Given the description of an element on the screen output the (x, y) to click on. 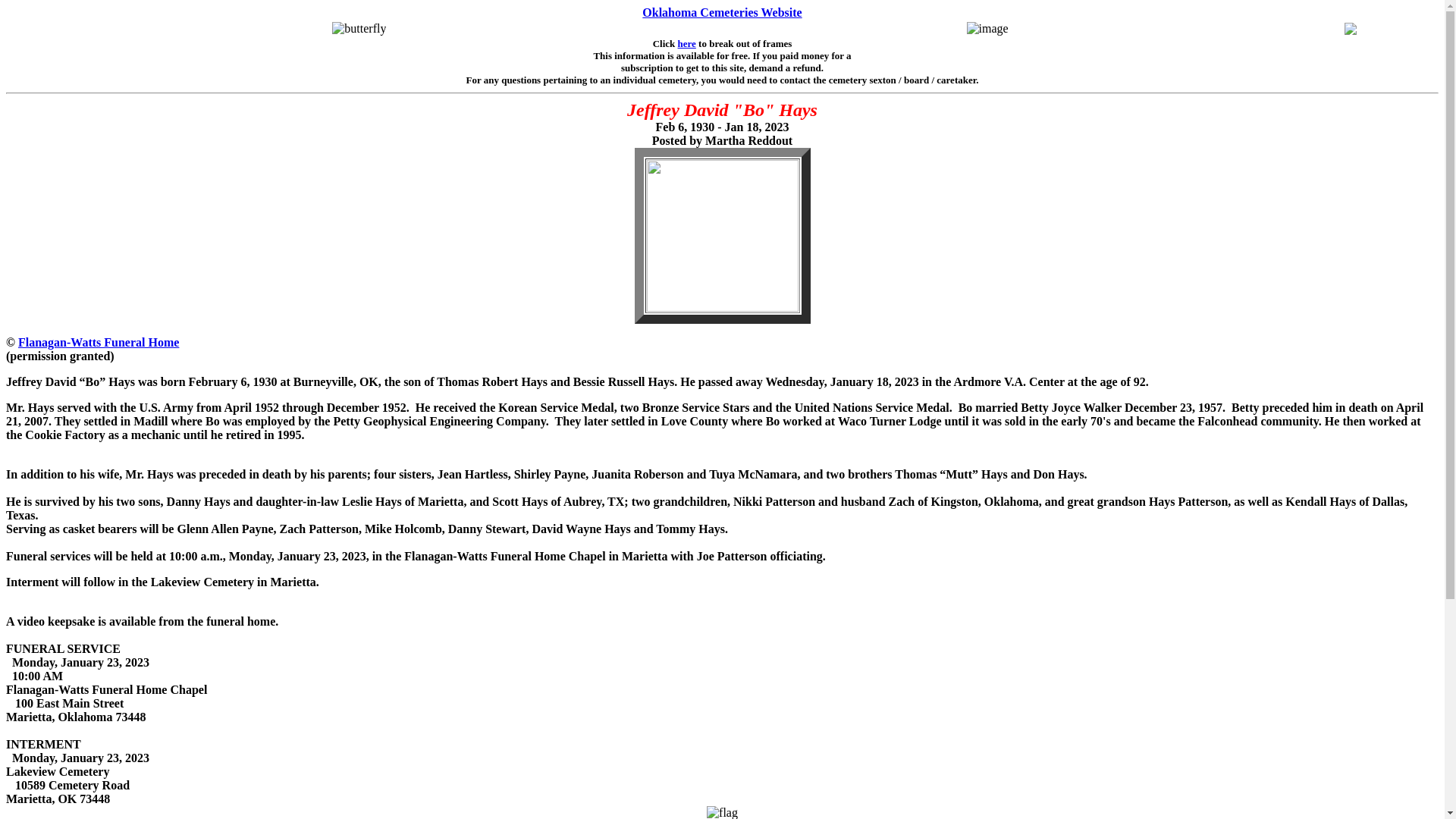
Flanagan-Watts Funeral Home (98, 341)
Oklahoma Cemeteries Website (722, 11)
here (686, 43)
